Given the description of an element on the screen output the (x, y) to click on. 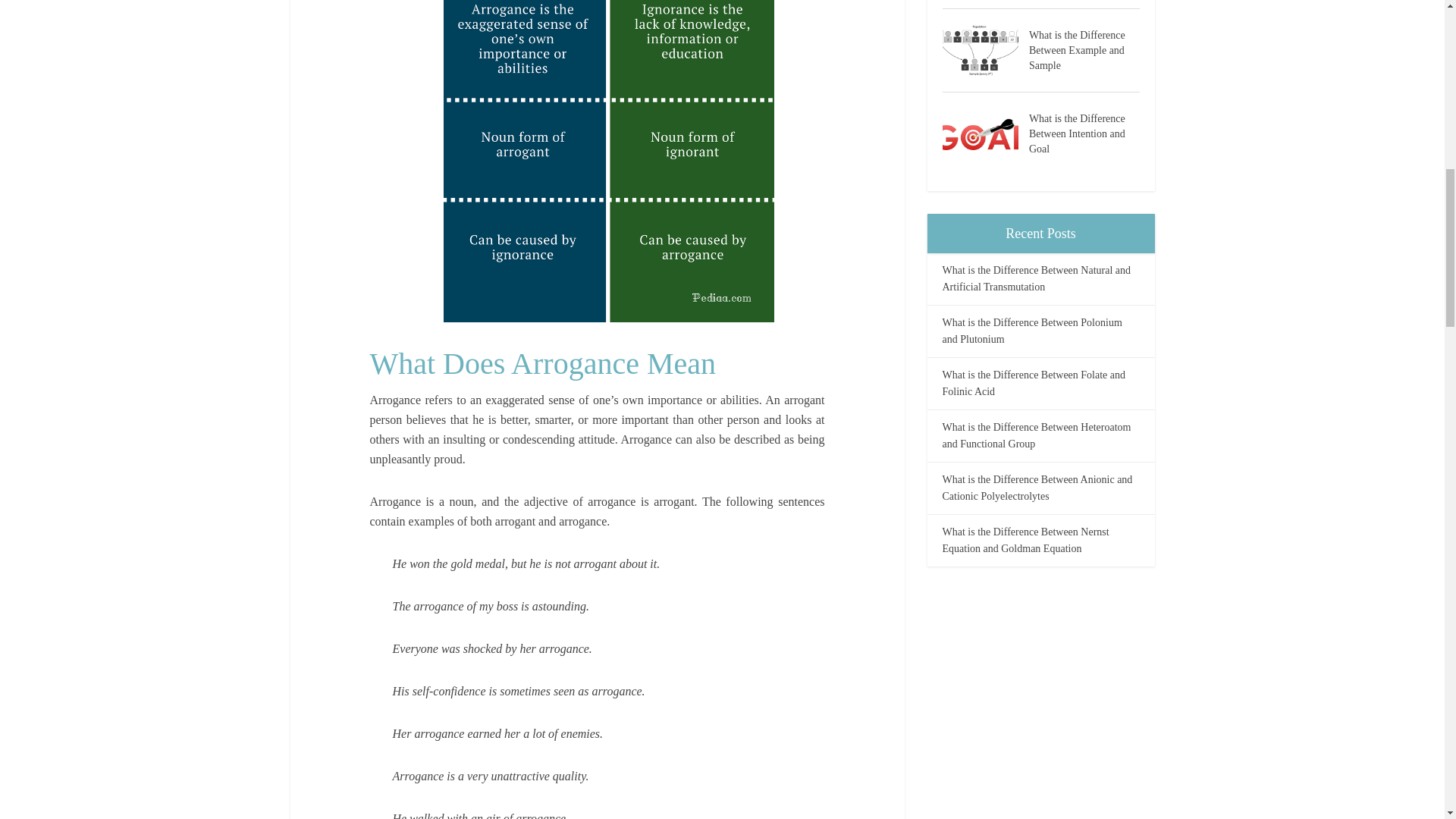
What is the Difference Between Intention and Goal (984, 133)
What is the Difference Between Example and Sample (984, 50)
What is the Difference Between Example and Sample (1084, 48)
What is the Difference Between Intention and Goal (1084, 132)
